Given the description of an element on the screen output the (x, y) to click on. 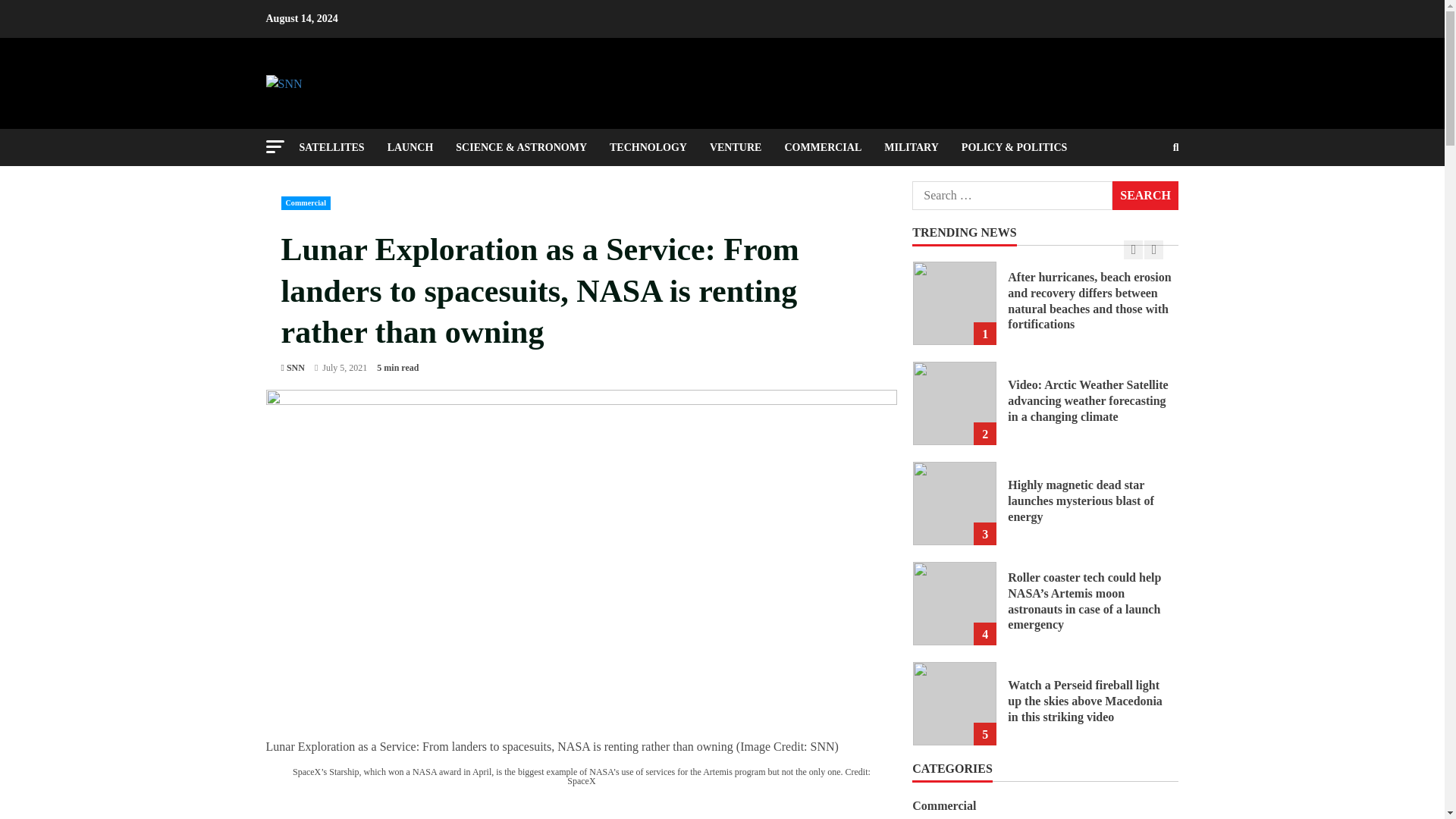
COMMERCIAL (822, 147)
Search (1145, 194)
SATELLITES (336, 147)
VENTURE (735, 147)
TECHNOLOGY (648, 147)
ENTERTAINMENT (443, 184)
Search (1139, 199)
Search (1145, 194)
MILITARY (911, 147)
Commercial (305, 202)
